Given the description of an element on the screen output the (x, y) to click on. 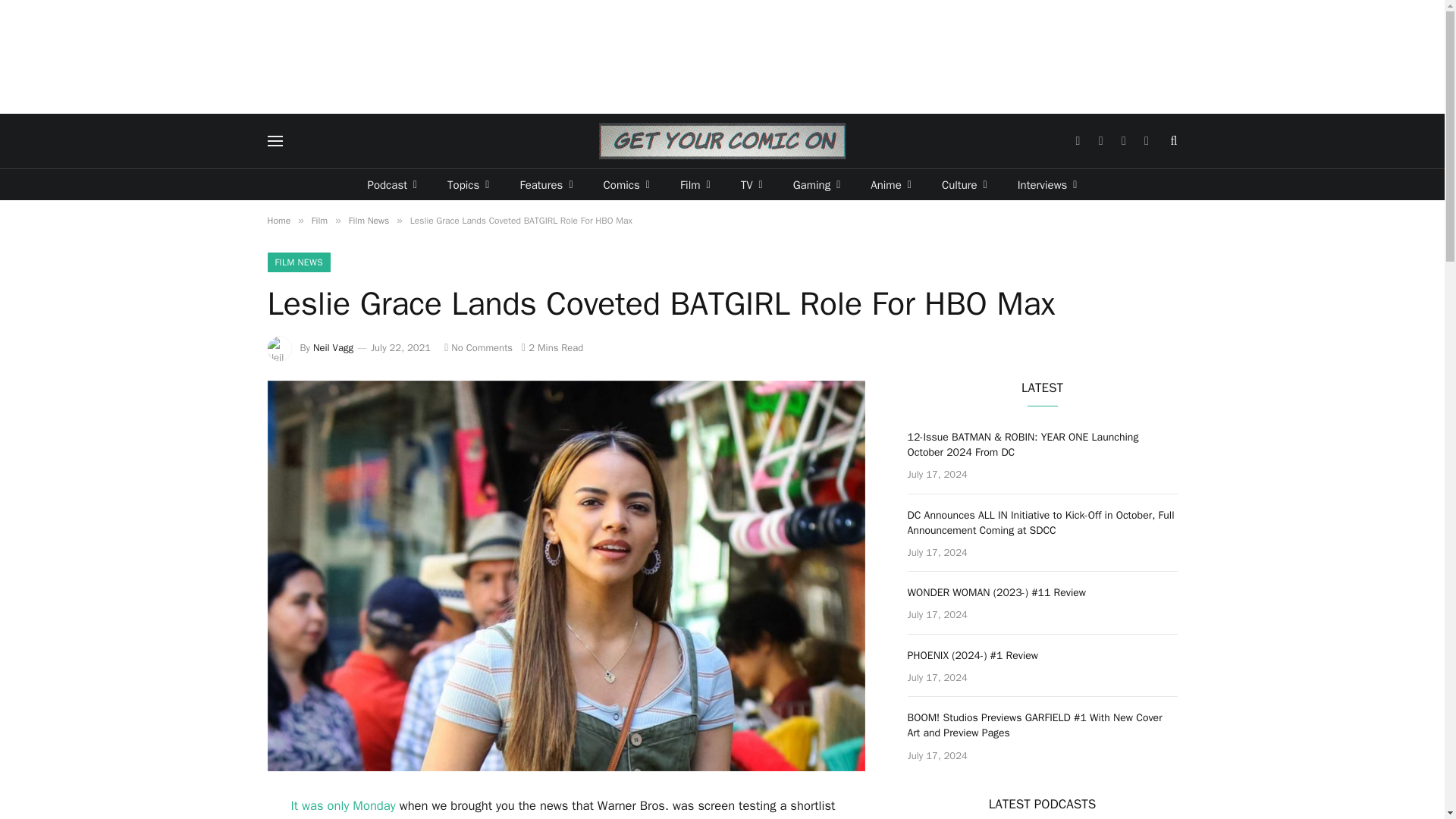
Podcast (392, 183)
Topics (467, 183)
Features (545, 183)
Advertisement (722, 56)
Get Your Comic On (721, 140)
